Given the description of an element on the screen output the (x, y) to click on. 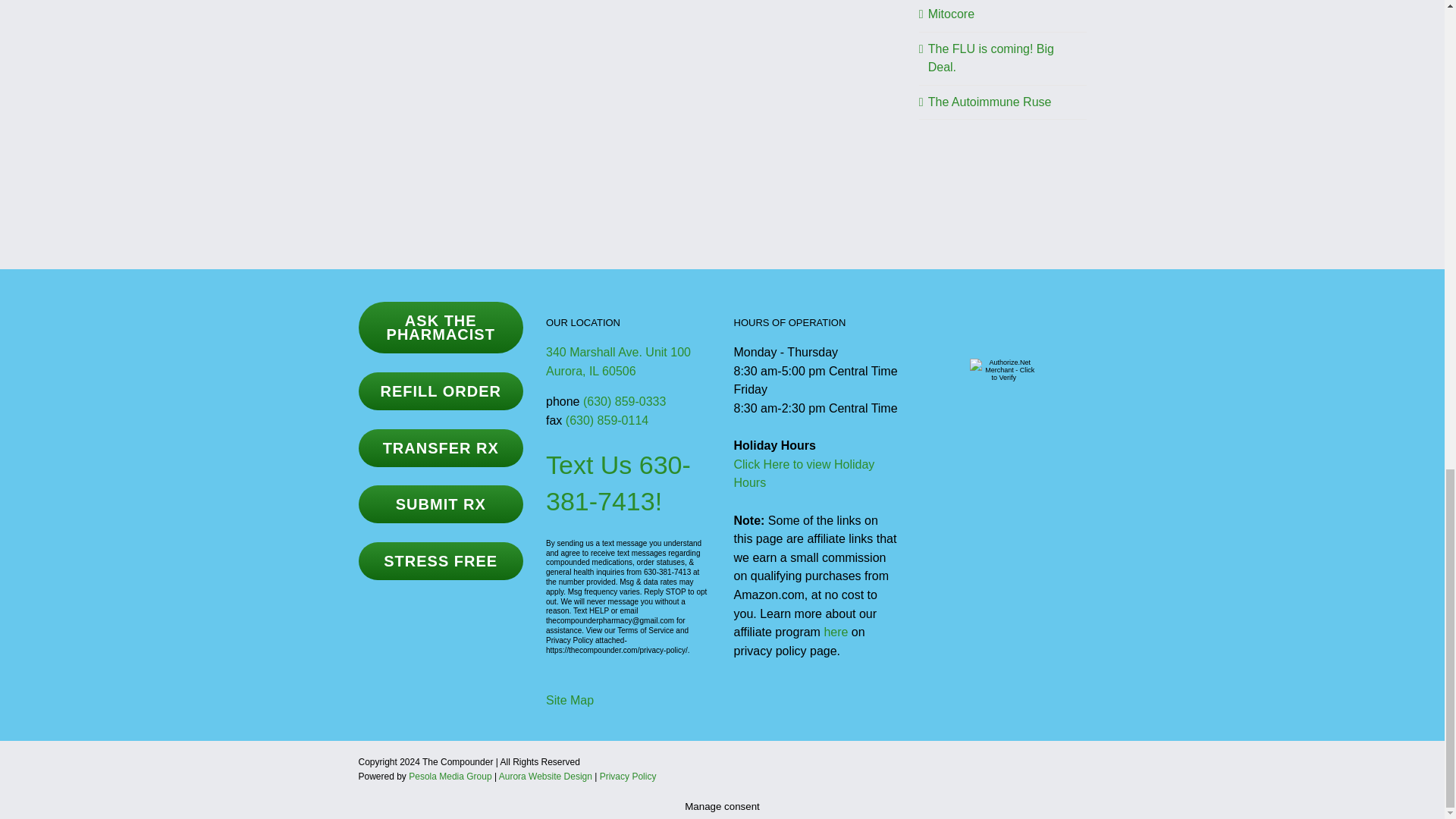
STRESS FREE (440, 560)
ASK THE PHARMACIST (440, 327)
The FLU is coming! Big Deal. (618, 361)
SUBMIT RX (991, 58)
Mitocore (440, 504)
The Autoimmune Ruse (951, 13)
REFILL ORDER (989, 101)
OUR LOCATION (440, 391)
TRANSFER RX (628, 322)
